Given the description of an element on the screen output the (x, y) to click on. 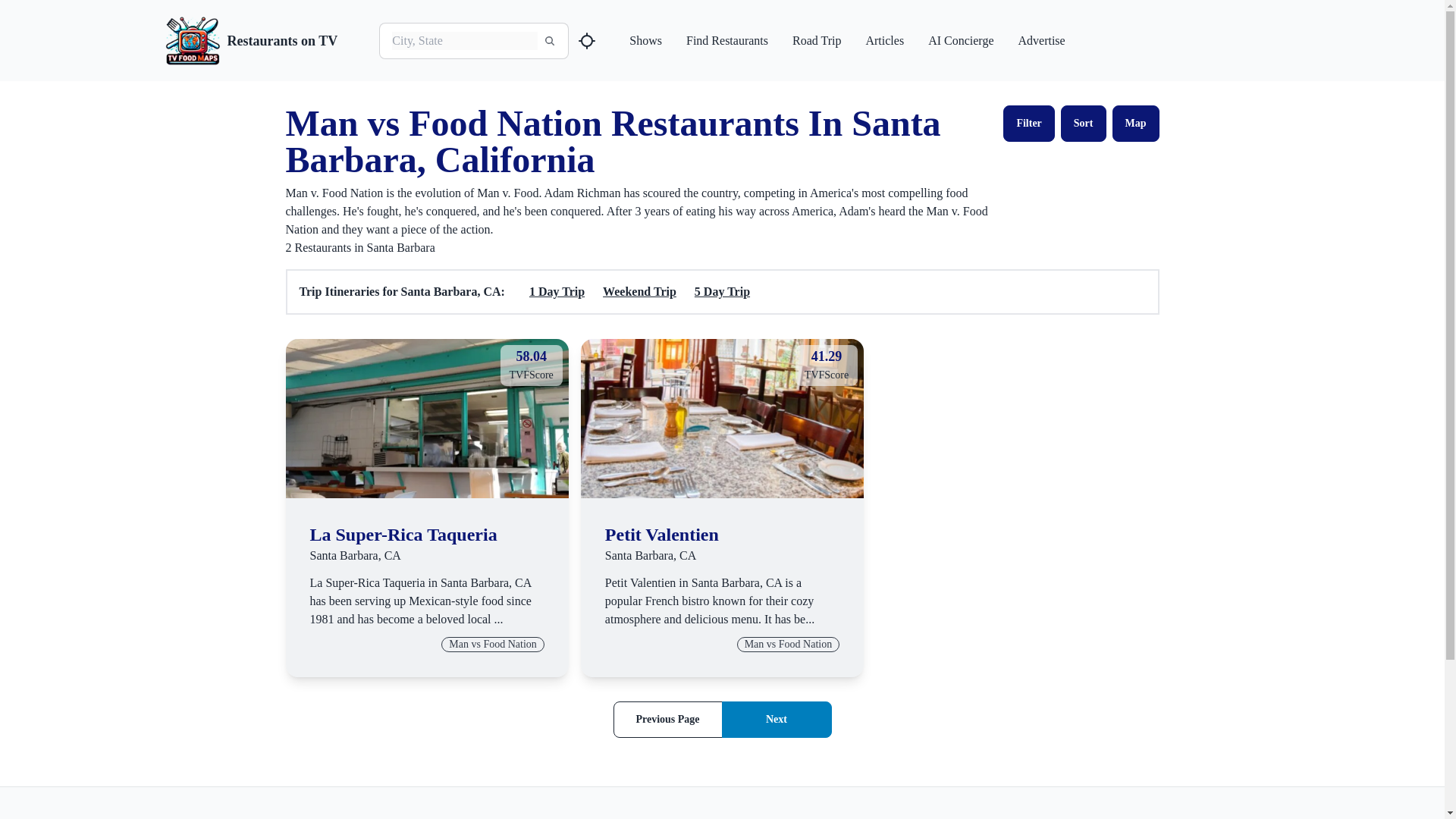
La Super-Rica Taqueria (402, 534)
Man vs Food Nation (788, 644)
Articles (884, 40)
AI Concierge (960, 40)
Advertise (1040, 40)
Advertise (1040, 40)
Man vs Food Nation (426, 418)
1 Day Trip (492, 644)
Map (557, 291)
Santa Barbara, CA (1135, 123)
Find Restaurants on TV Nearby (721, 418)
Petit Valentien (354, 554)
Shows (587, 40)
